Given the description of an element on the screen output the (x, y) to click on. 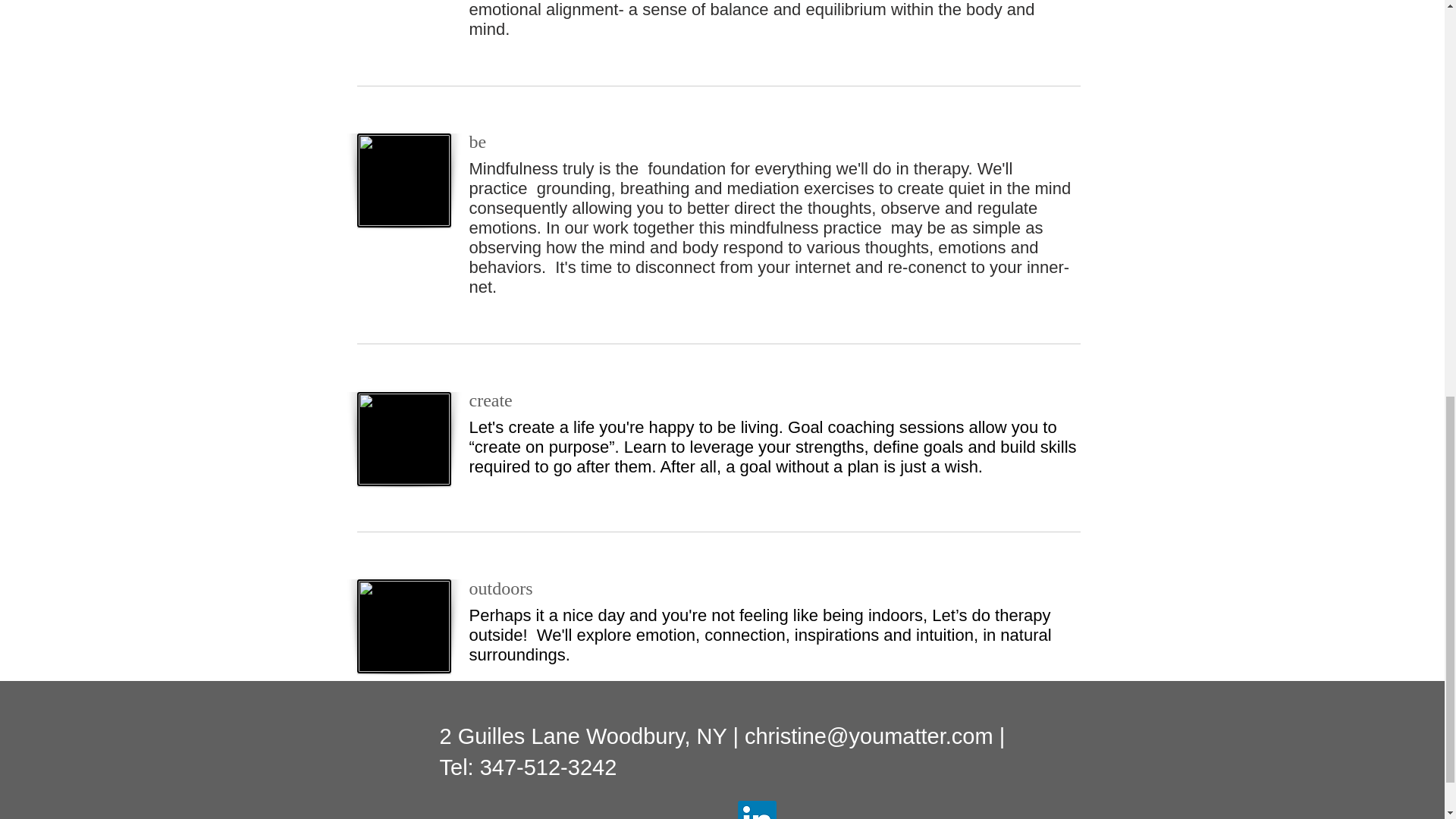
hike.png (402, 626)
create.png (402, 438)
breathe.png (402, 180)
